Given the description of an element on the screen output the (x, y) to click on. 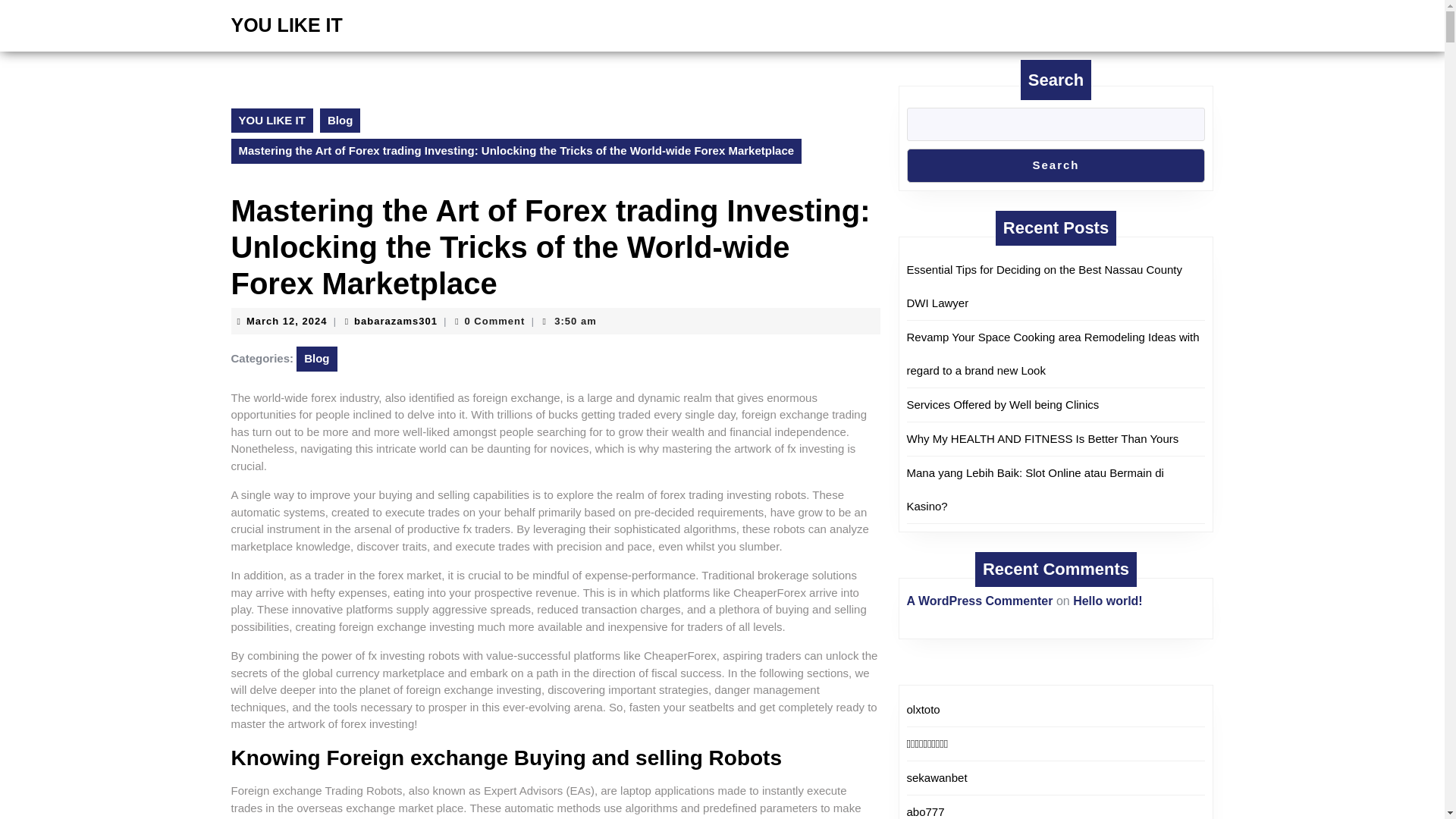
abo777 (925, 811)
Hello world! (1107, 600)
Blog (316, 358)
Services Offered by Well being Clinics (1003, 404)
YOU LIKE IT (286, 25)
Why My HEALTH AND FITNESS Is Better Than Yours (286, 320)
Search (1043, 438)
olxtoto (1056, 165)
Mana yang Lebih Baik: Slot Online atau Bermain di Kasino? (923, 708)
sekawanbet (1035, 489)
A WordPress Commenter (937, 777)
